Given the description of an element on the screen output the (x, y) to click on. 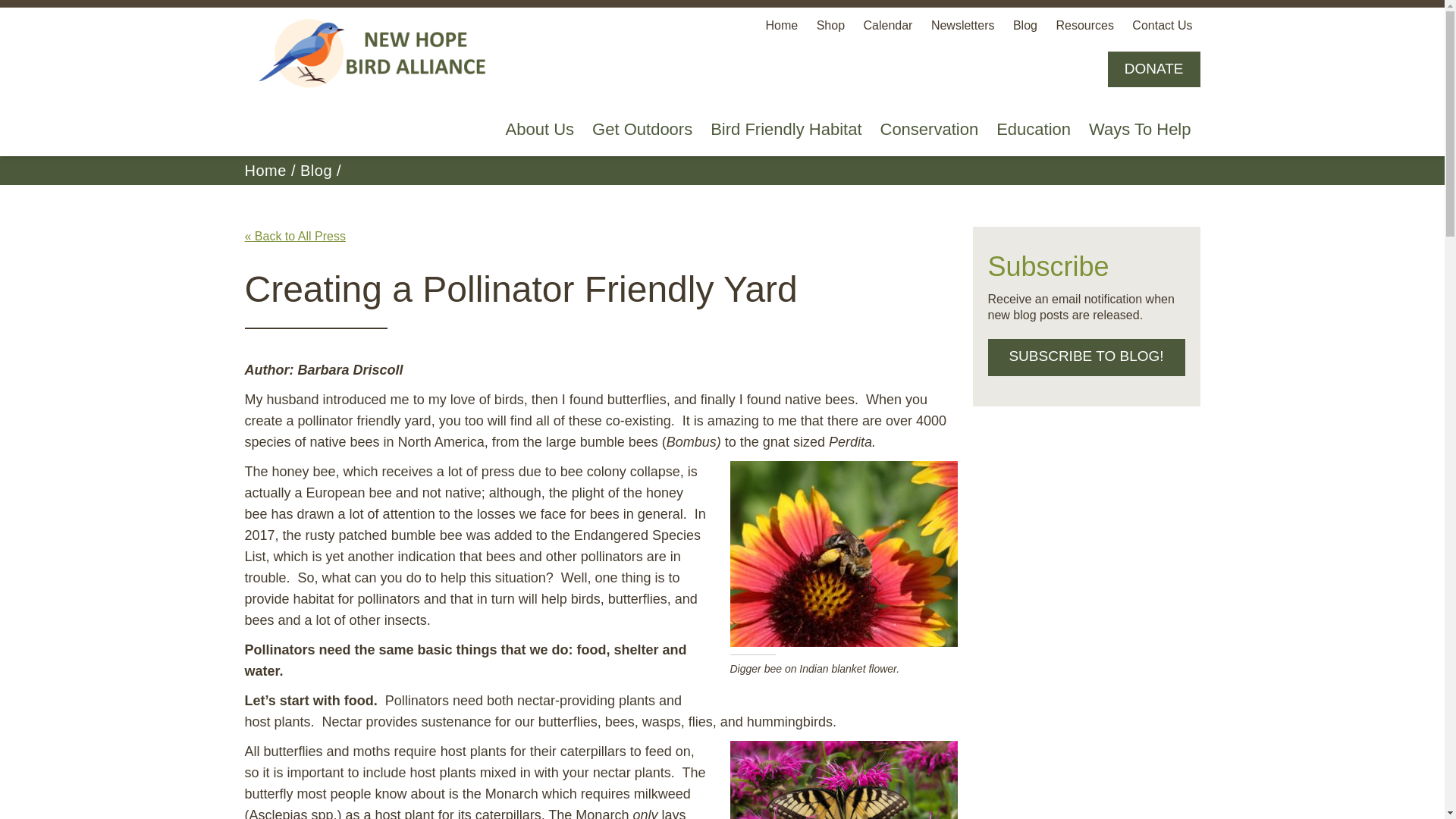
New Hope Audubon Society (376, 55)
DONATE (1153, 68)
Home (781, 24)
Contact Us (1162, 24)
Bird Friendly Habitat (786, 129)
Ways To Help (1139, 129)
Get Outdoors (642, 129)
Conservation (928, 129)
Newsletters (962, 24)
Education (1033, 129)
About Us (539, 129)
Calendar (887, 24)
Resources (1084, 24)
New Hope Audubon Society (376, 55)
Shop (830, 24)
